Given the description of an element on the screen output the (x, y) to click on. 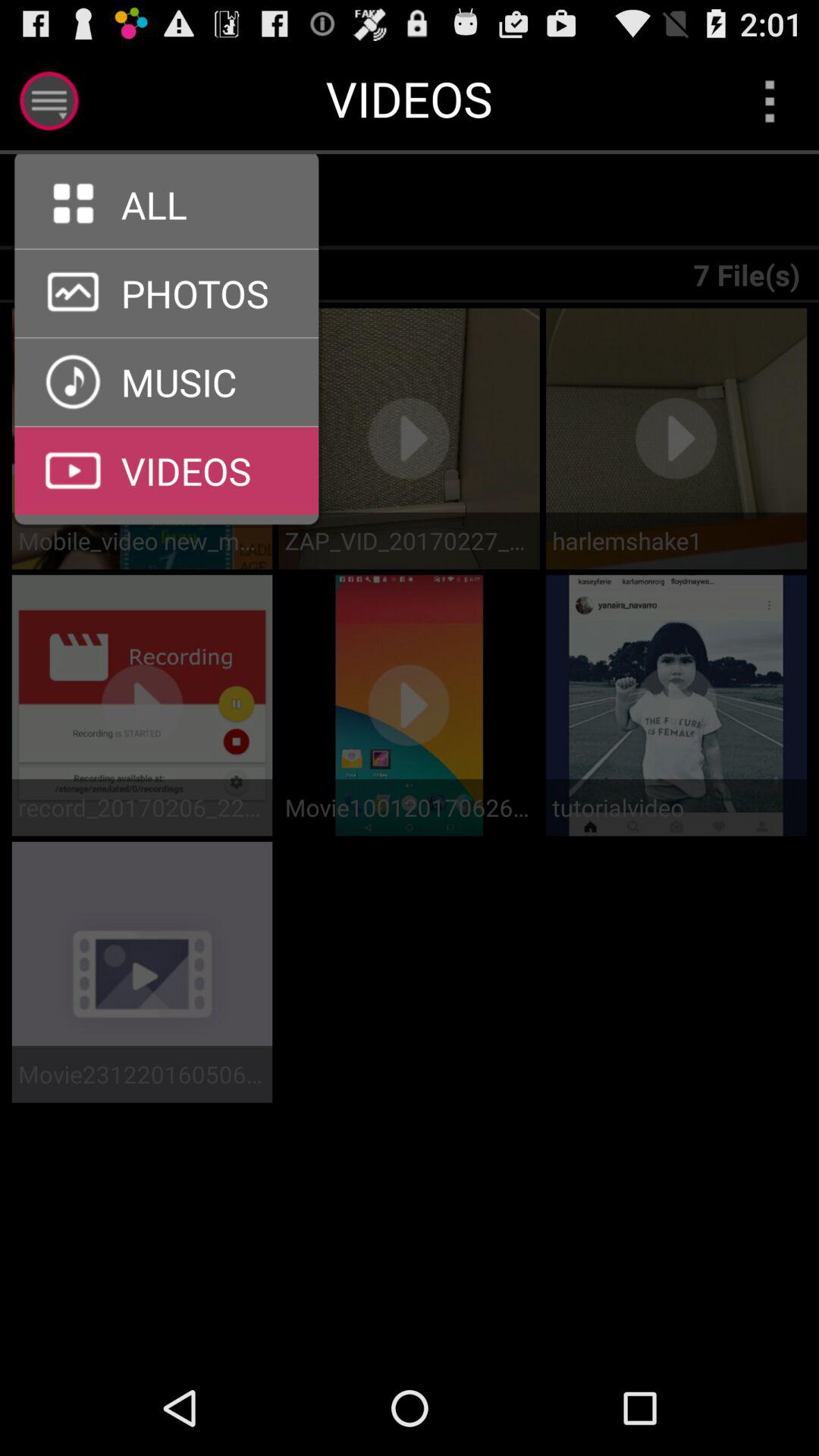
press the icon to the left of the 7 file(s) (176, 201)
